Given the description of an element on the screen output the (x, y) to click on. 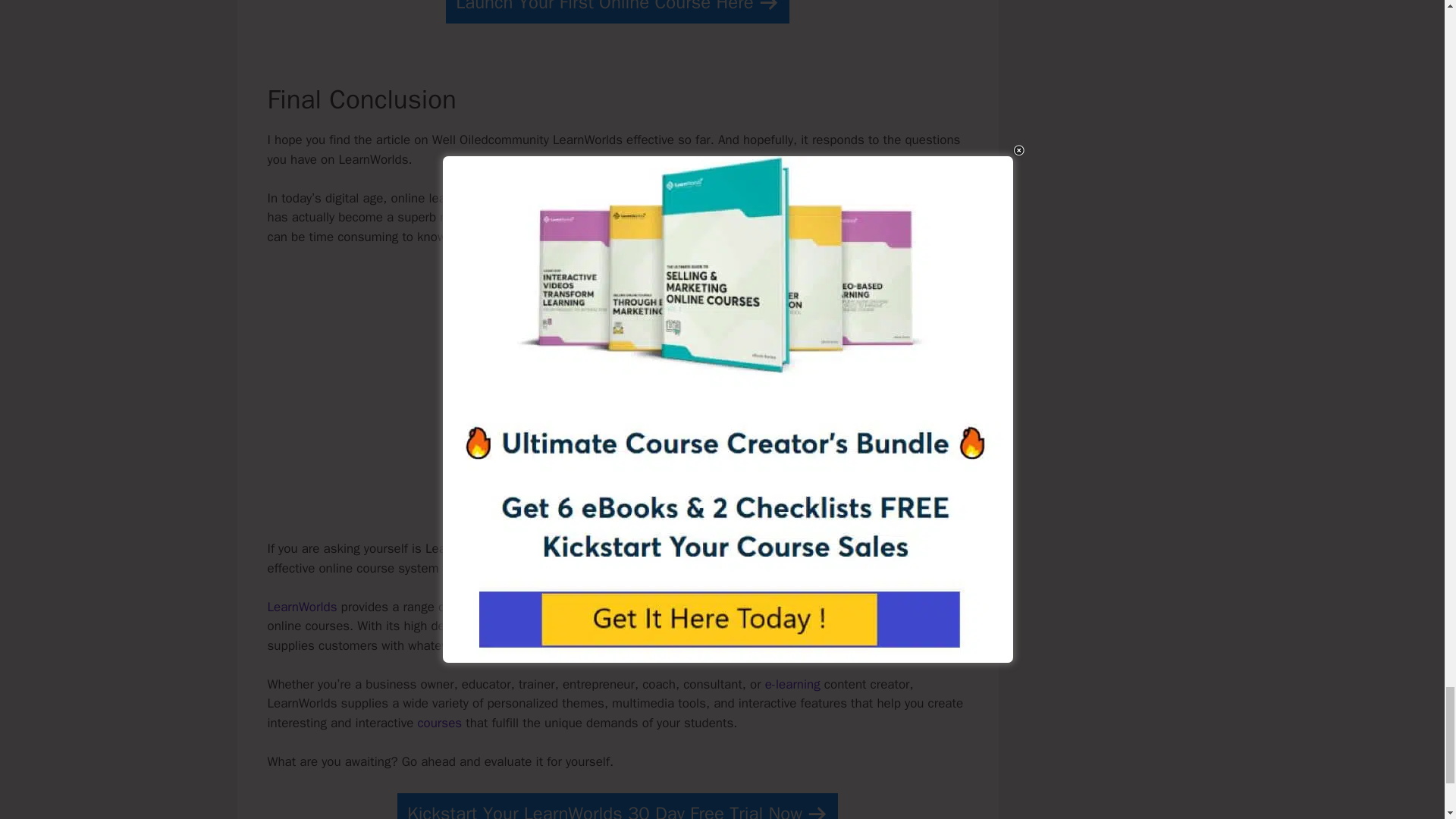
LearnWorlds (301, 606)
courses (438, 722)
e-learning (793, 684)
Kickstart Your LearnWorlds 30 Day Free Trial Now (617, 806)
Launch Your First Online Course Here (617, 11)
